Given the description of an element on the screen output the (x, y) to click on. 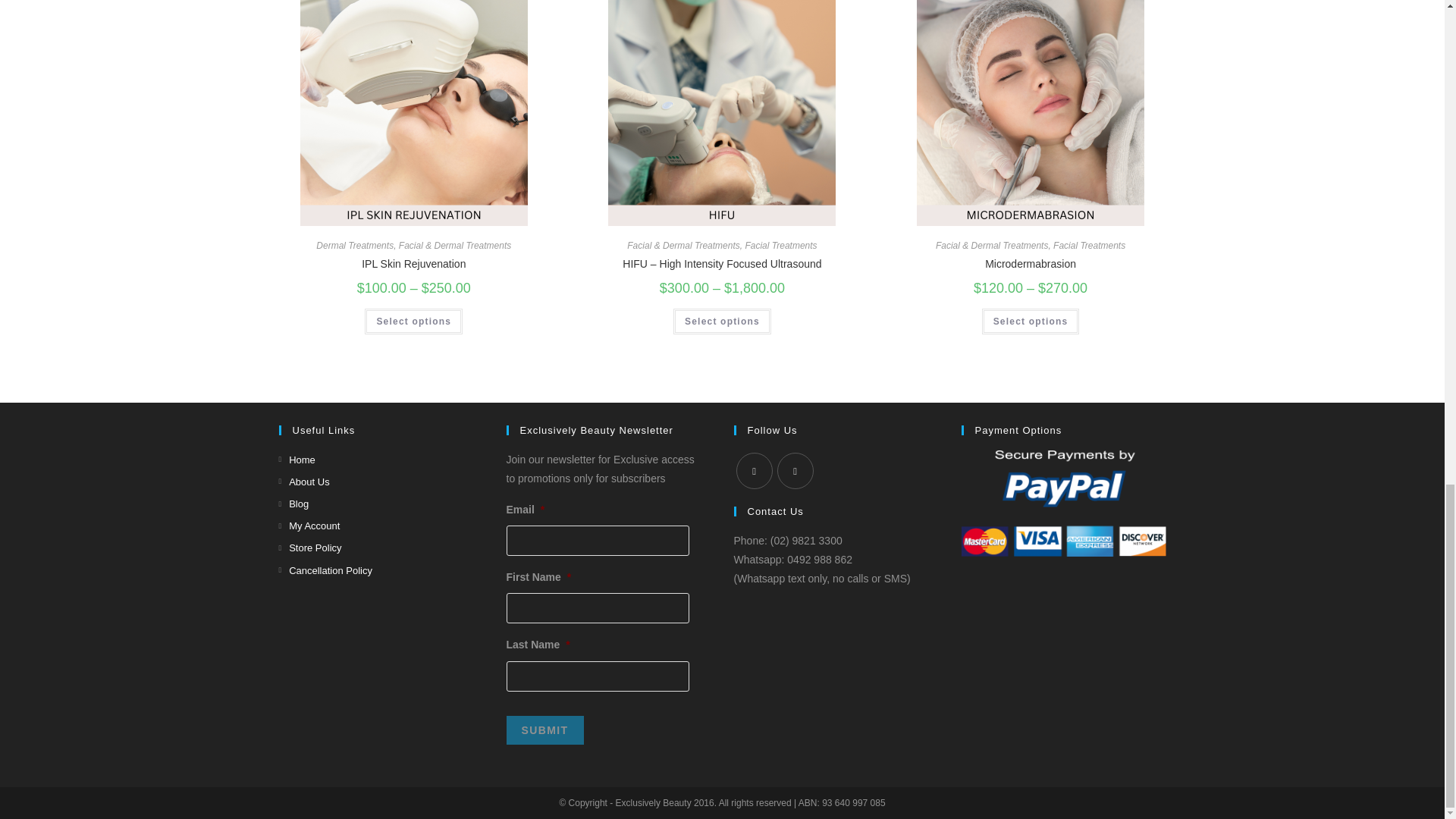
Submit (544, 729)
